Given the description of an element on the screen output the (x, y) to click on. 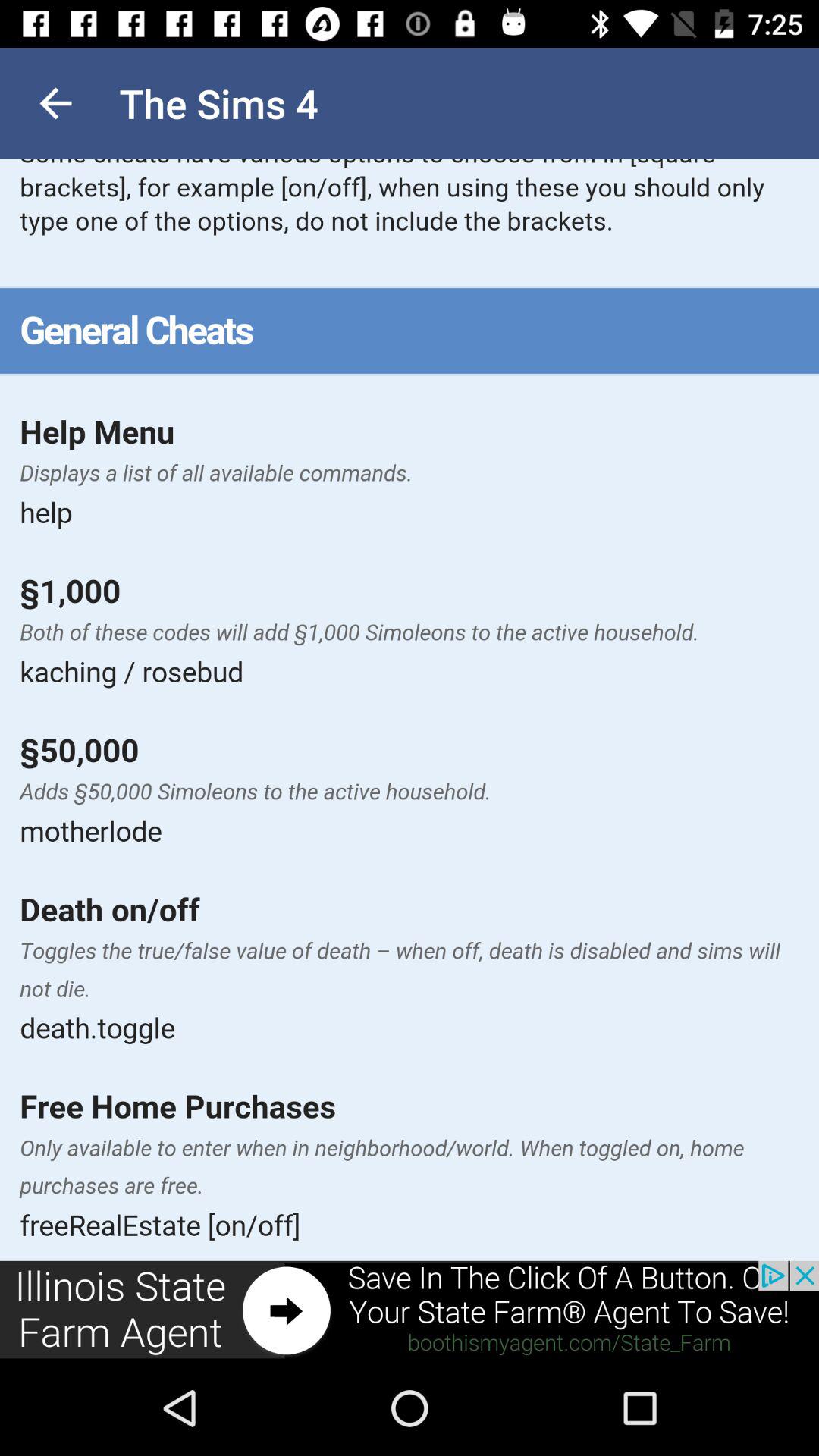
copy text (409, 709)
